Given the description of an element on the screen output the (x, y) to click on. 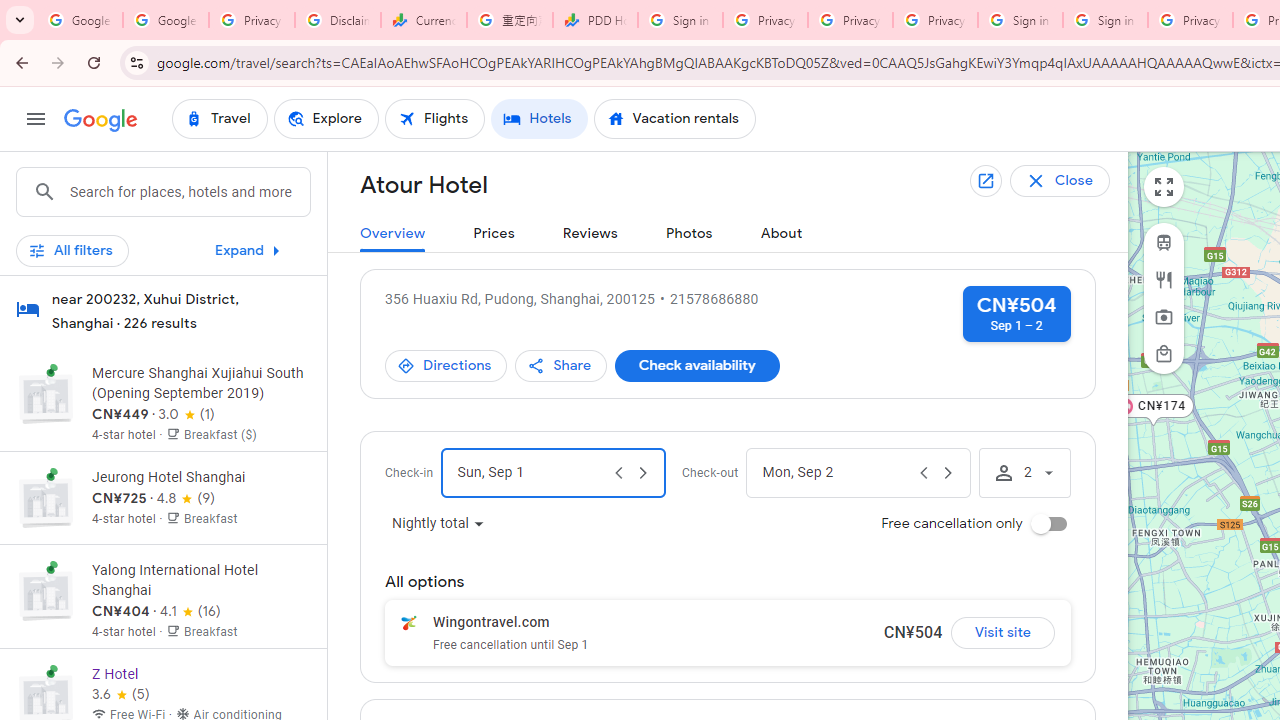
View prices for Jeurong Hotel Shanghai (200, 567)
All filters (72, 250)
View prices for Yalong International Hotel Shanghai (200, 671)
PDD Holdings Inc - ADR (PDD) Price & News - Google Finance (595, 20)
About (781, 233)
Search for places, hotels and more (189, 191)
Price displayedNightly total (438, 524)
Sign in - Google Accounts (1020, 20)
Check-in (530, 472)
Reviews (589, 233)
Transit (1163, 242)
View larger map (1164, 187)
